Given the description of an element on the screen output the (x, y) to click on. 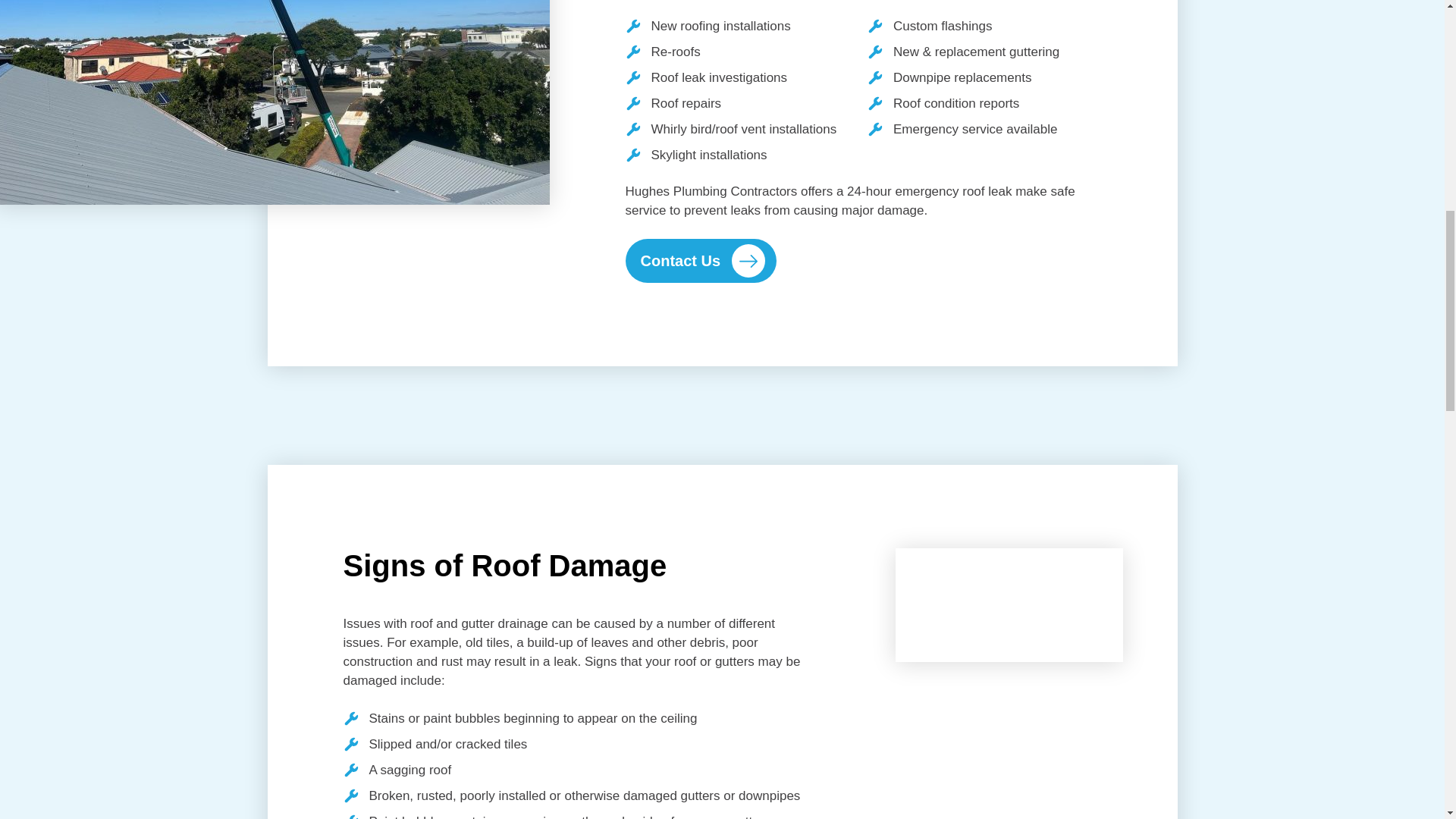
Australian Owned Certified (1047, 295)
